Given the description of an element on the screen output the (x, y) to click on. 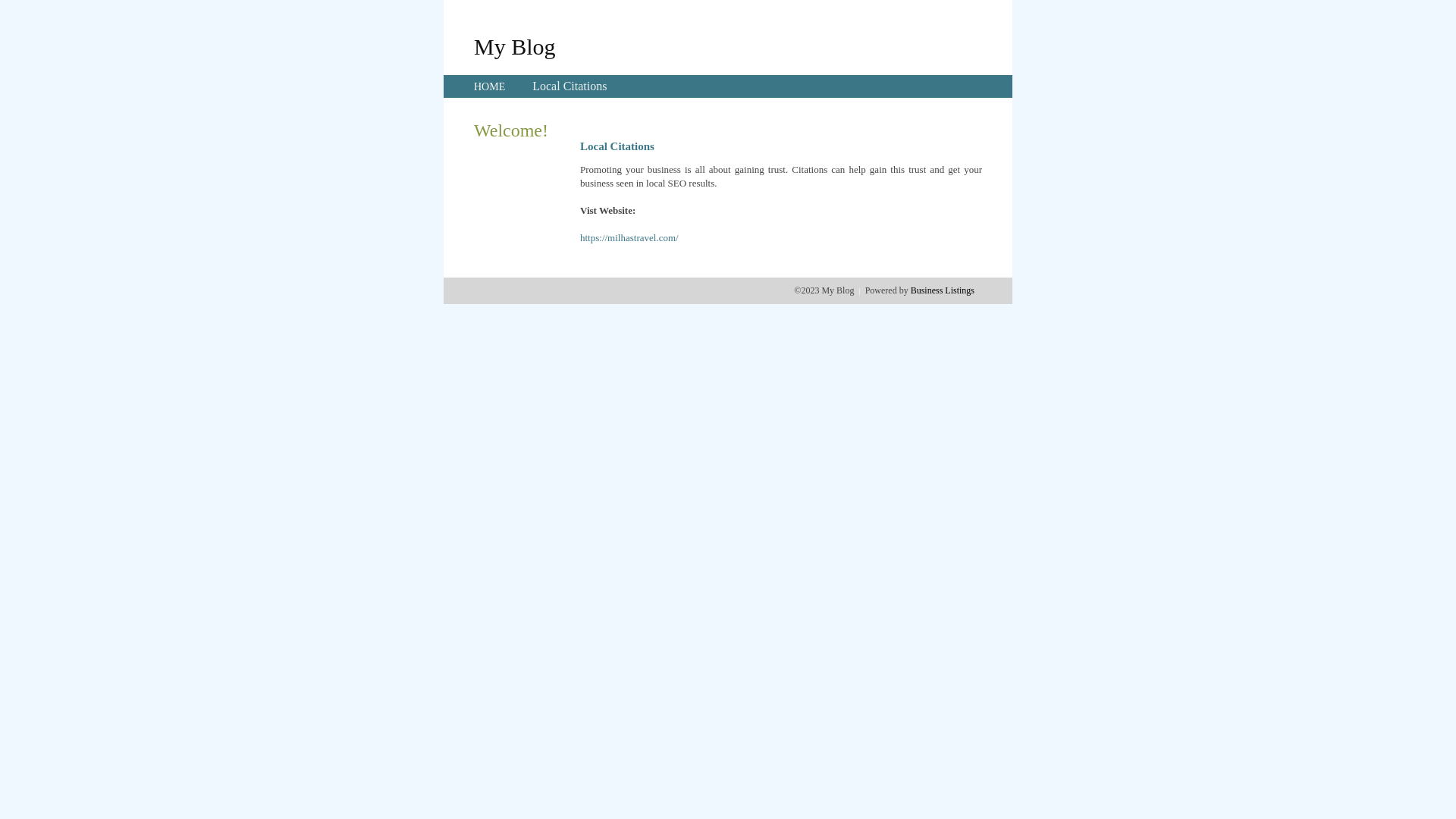
Business Listings Element type: text (942, 290)
https://milhastravel.com/ Element type: text (629, 237)
My Blog Element type: text (514, 46)
Local Citations Element type: text (569, 85)
HOME Element type: text (489, 86)
